Given the description of an element on the screen output the (x, y) to click on. 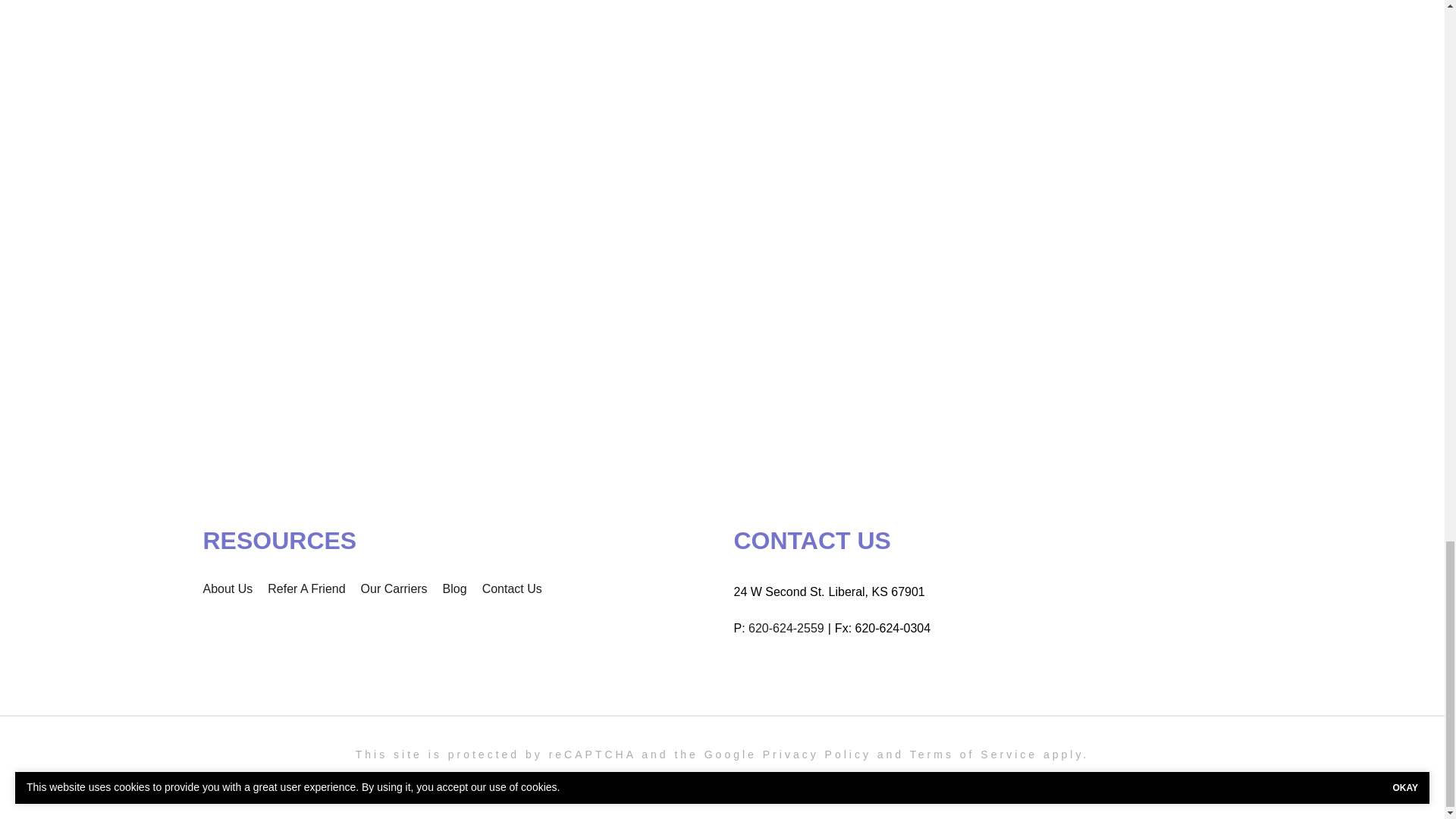
Insurance Website Builder (880, 782)
